Given the description of an element on the screen output the (x, y) to click on. 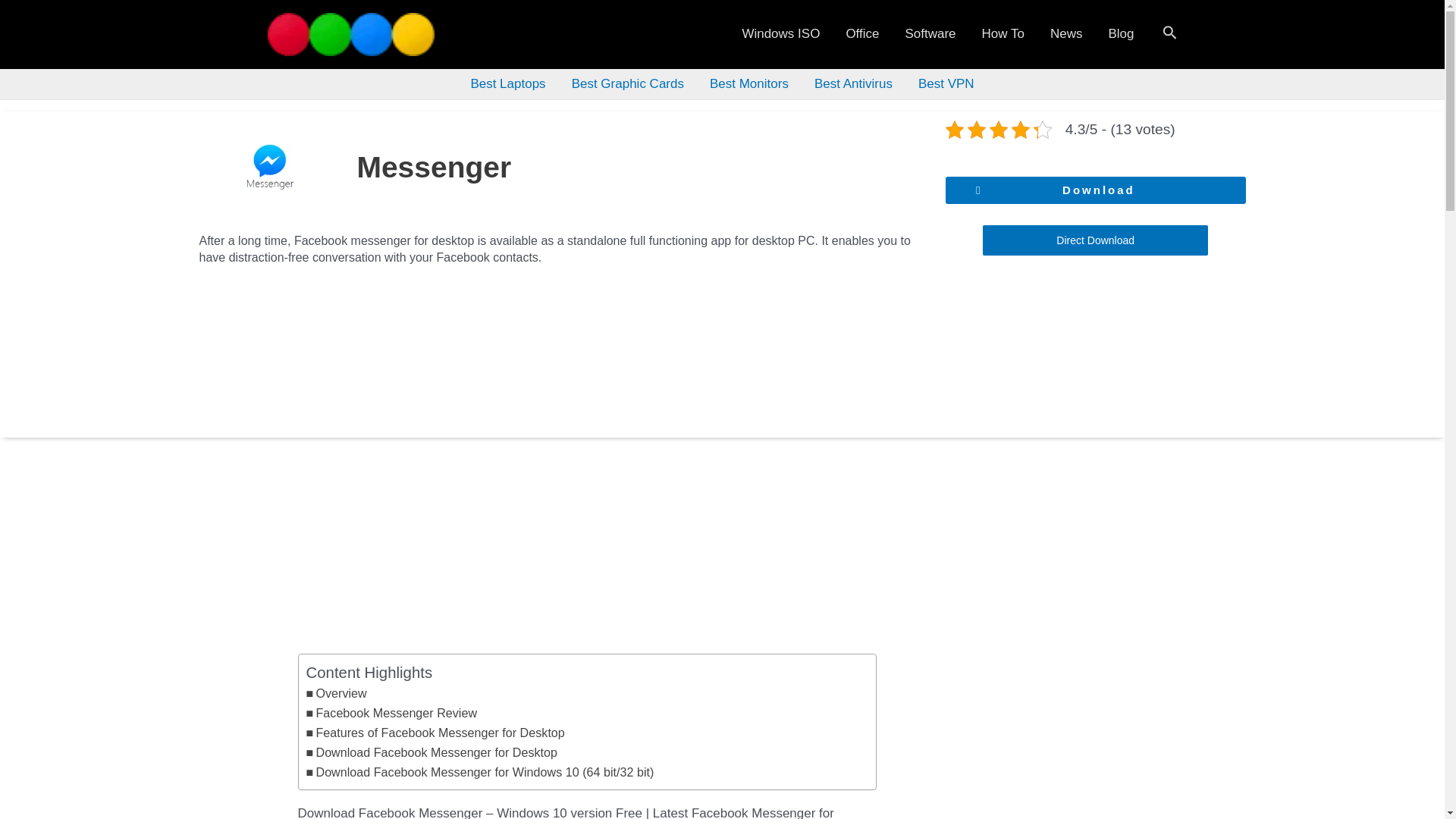
Best Graphic Cards (628, 83)
News (1066, 33)
Facebook Messenger Review (391, 713)
Facebook Messenger Review (391, 713)
Download Facebook Messenger for Desktop (431, 752)
Direct Download (1095, 240)
Software (929, 33)
Best Laptops (507, 83)
Direct Download (1095, 239)
Blog (1120, 33)
